Given the description of an element on the screen output the (x, y) to click on. 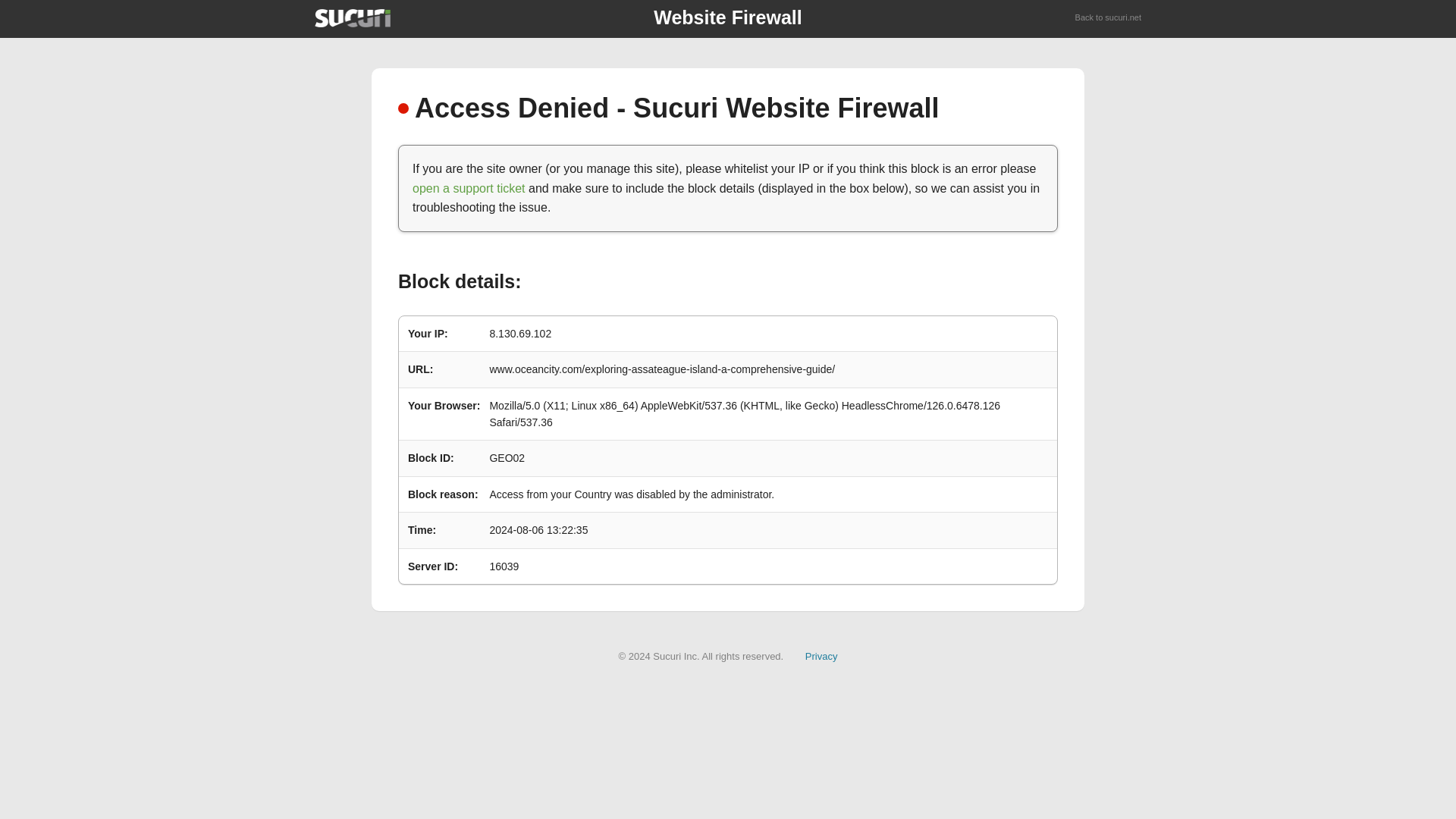
open a support ticket (468, 187)
Back to sucuri.net (1108, 18)
Privacy (821, 655)
